Given the description of an element on the screen output the (x, y) to click on. 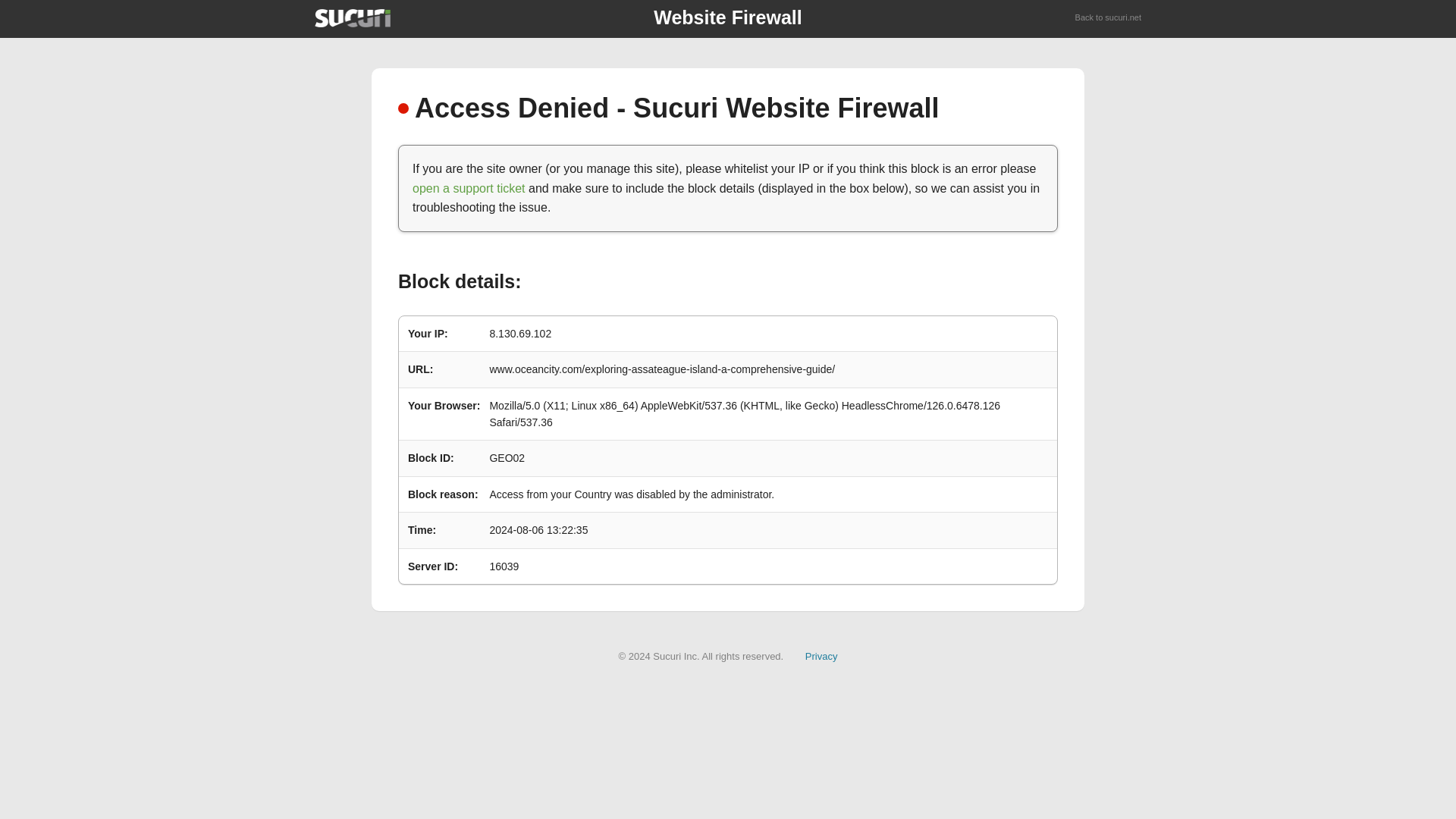
open a support ticket (468, 187)
Back to sucuri.net (1108, 18)
Privacy (821, 655)
